Given the description of an element on the screen output the (x, y) to click on. 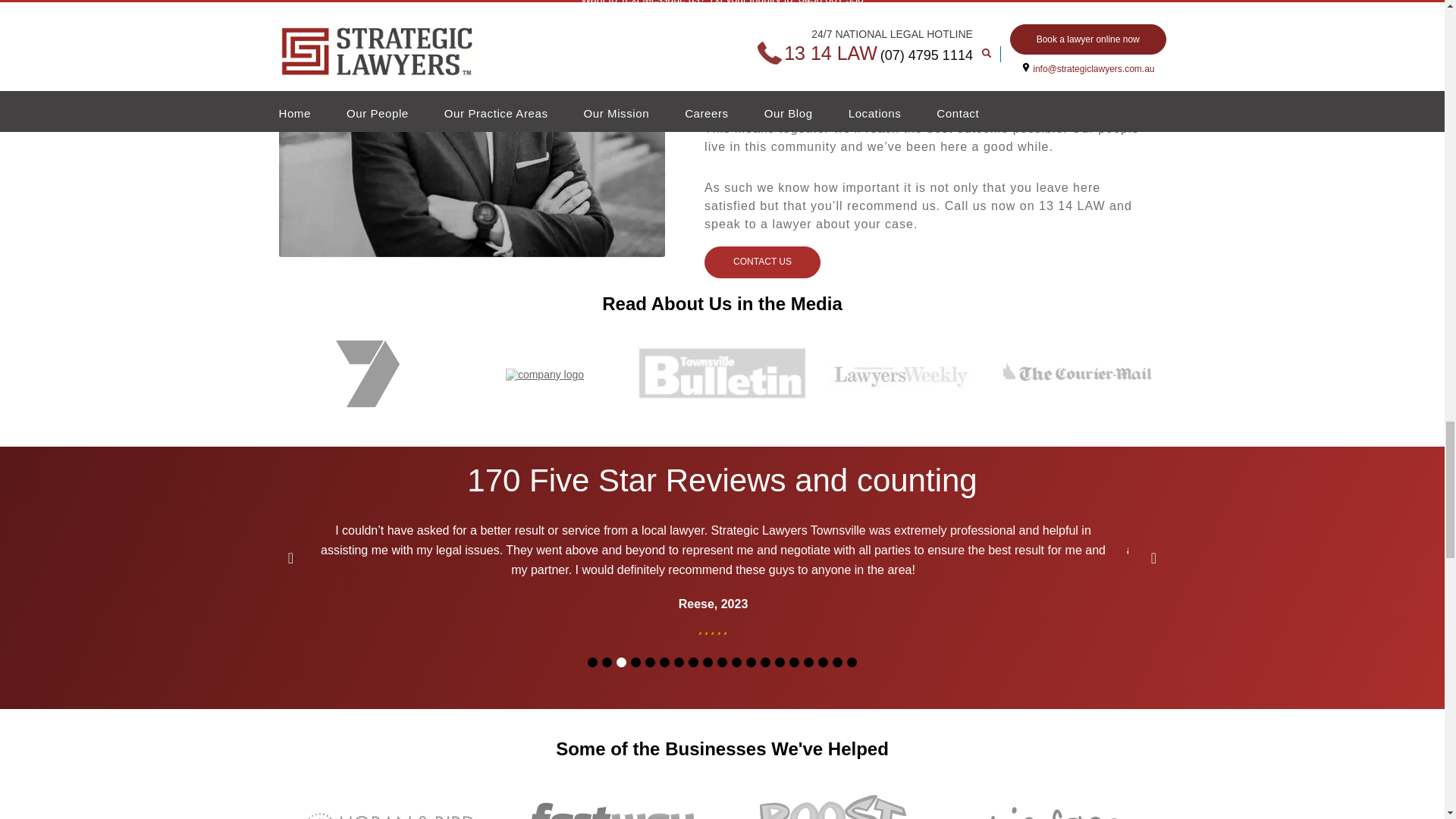
Boost (832, 806)
Fastway (611, 810)
Pie folce (1055, 812)
